Given the description of an element on the screen output the (x, y) to click on. 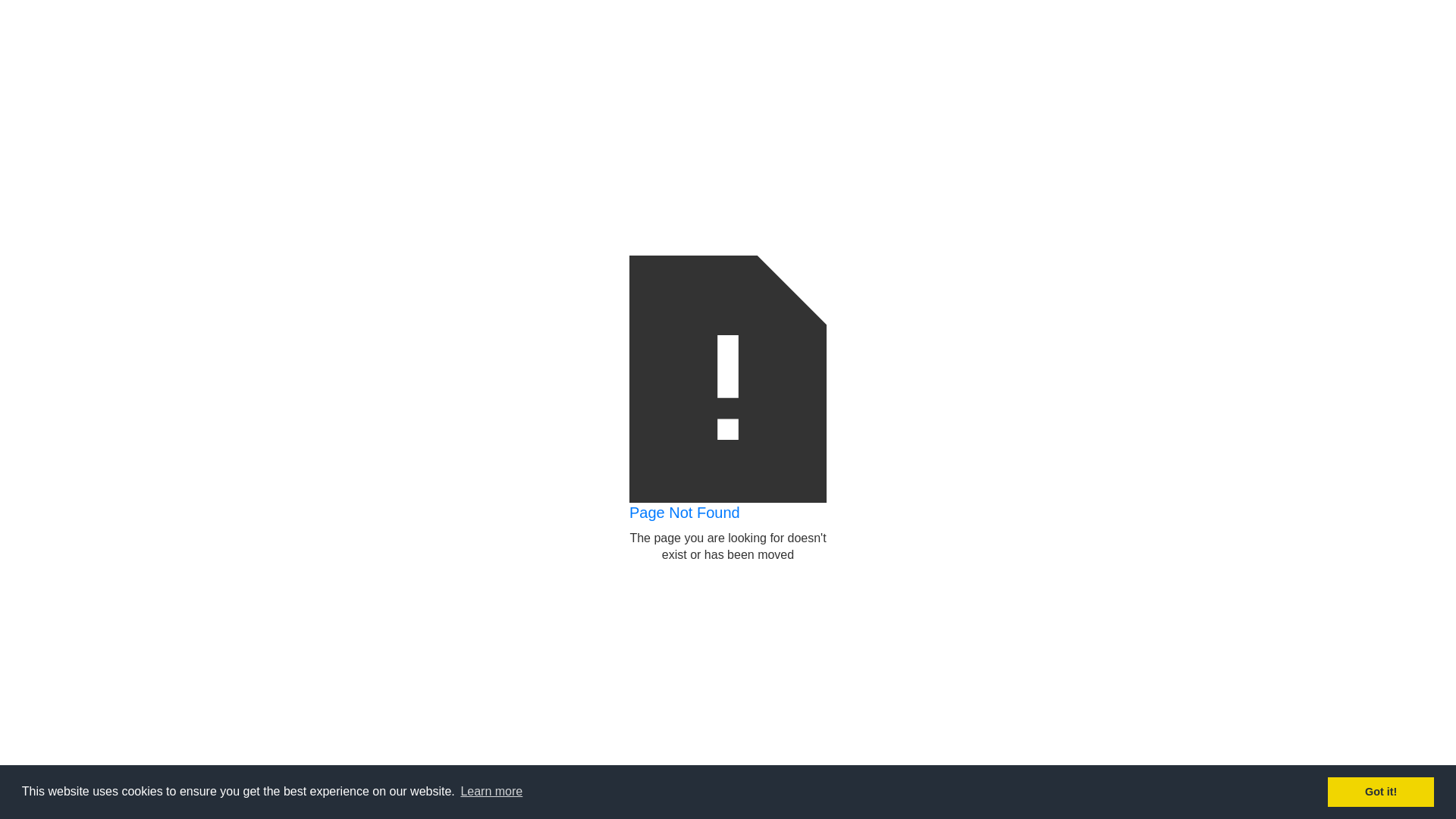
Got it! Element type: text (1380, 791)
Learn more Element type: text (491, 791)
